Given the description of an element on the screen output the (x, y) to click on. 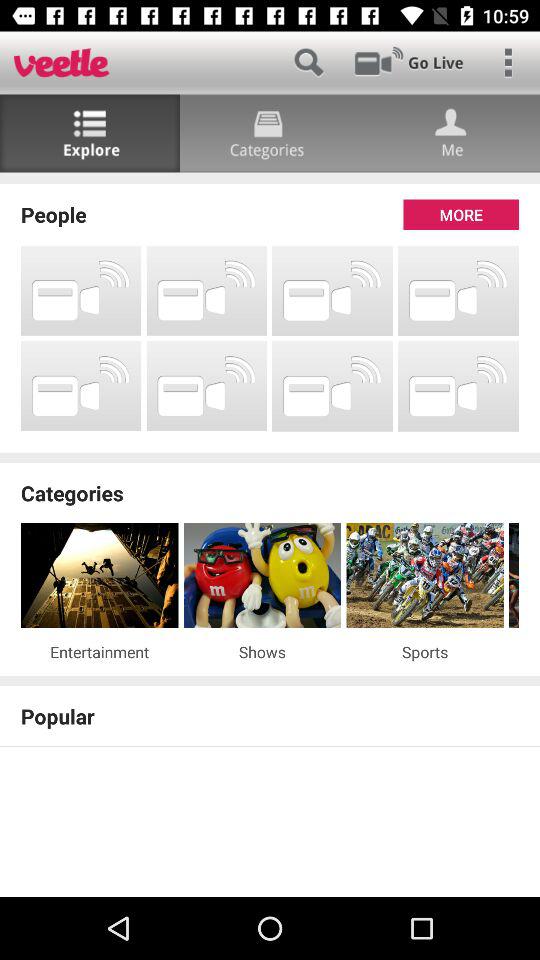
tap app next to the entertainment (262, 651)
